Given the description of an element on the screen output the (x, y) to click on. 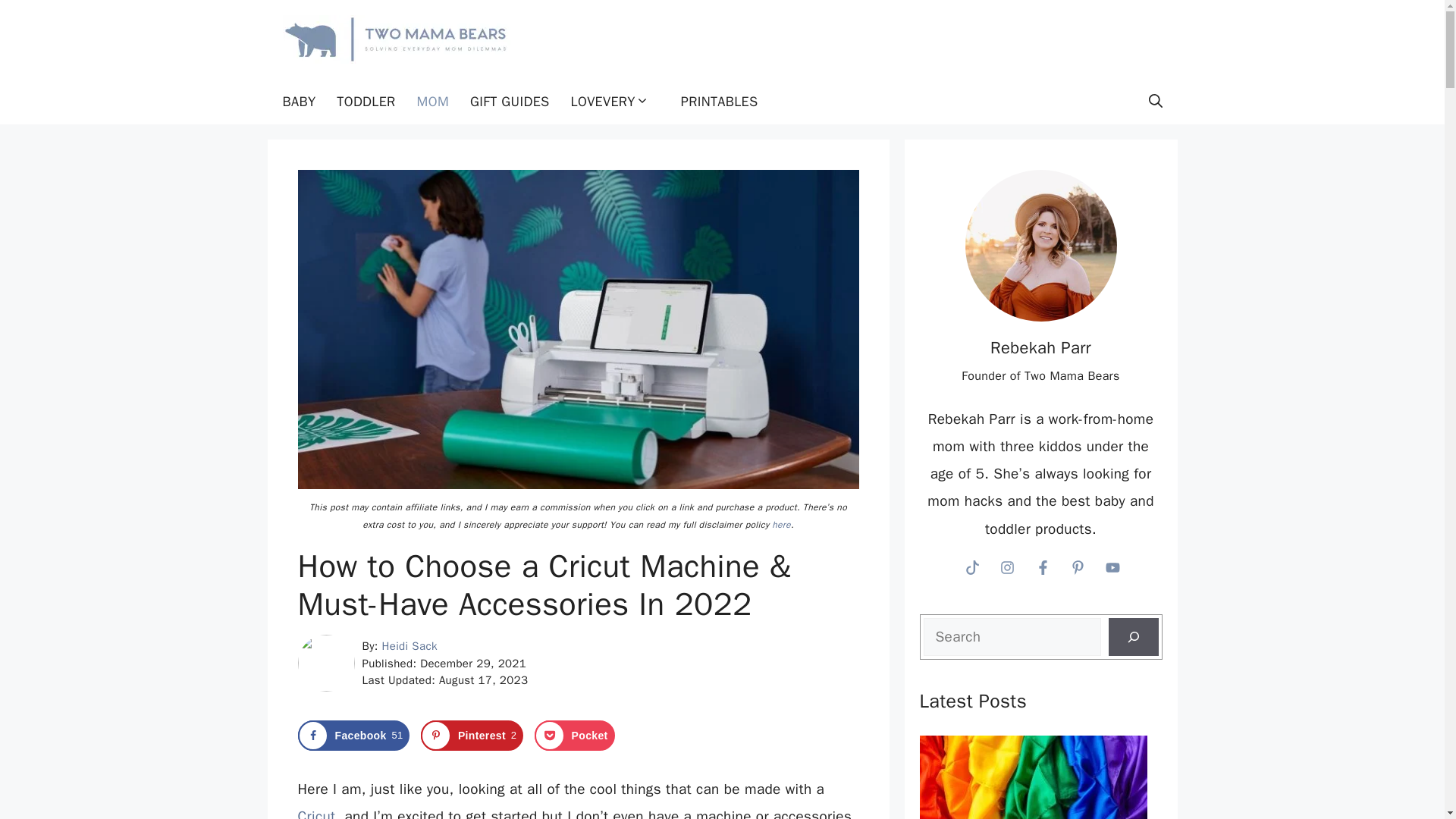
BABY (298, 101)
GIFT GUIDES (510, 101)
Share on Pocket (574, 735)
Heidi Sack (408, 645)
here (780, 524)
Pocket (353, 735)
Save to Pinterest (574, 735)
LOVEVERY (471, 735)
Cricut (614, 101)
headshot rebekah two mama bears (471, 735)
TODDLER (315, 813)
MOM (1039, 245)
Share on Facebook (366, 101)
